Given the description of an element on the screen output the (x, y) to click on. 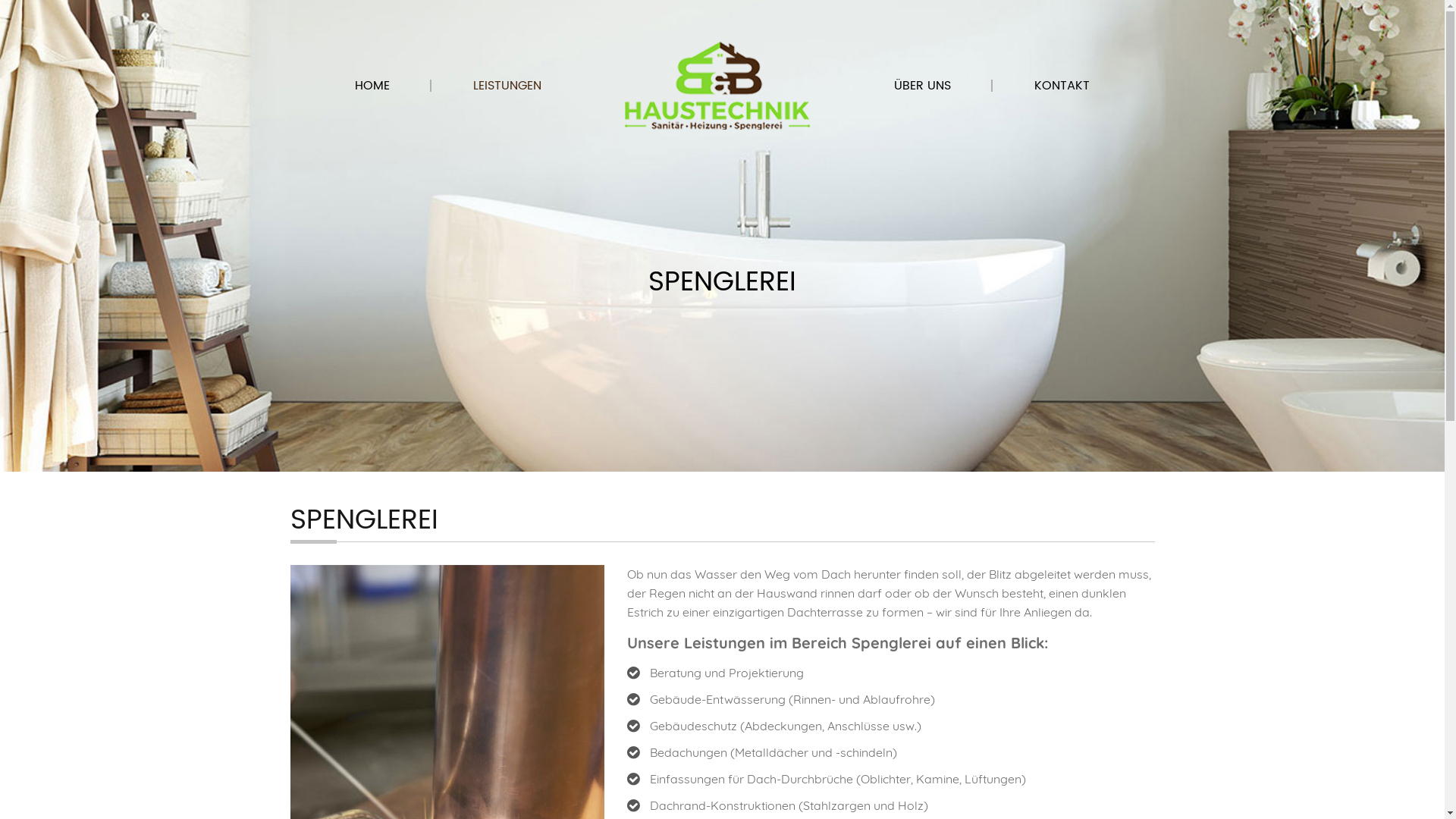
LEISTUNGEN Element type: text (507, 85)
HOME Element type: text (372, 85)
KONTAKT Element type: text (1061, 85)
